Given the description of an element on the screen output the (x, y) to click on. 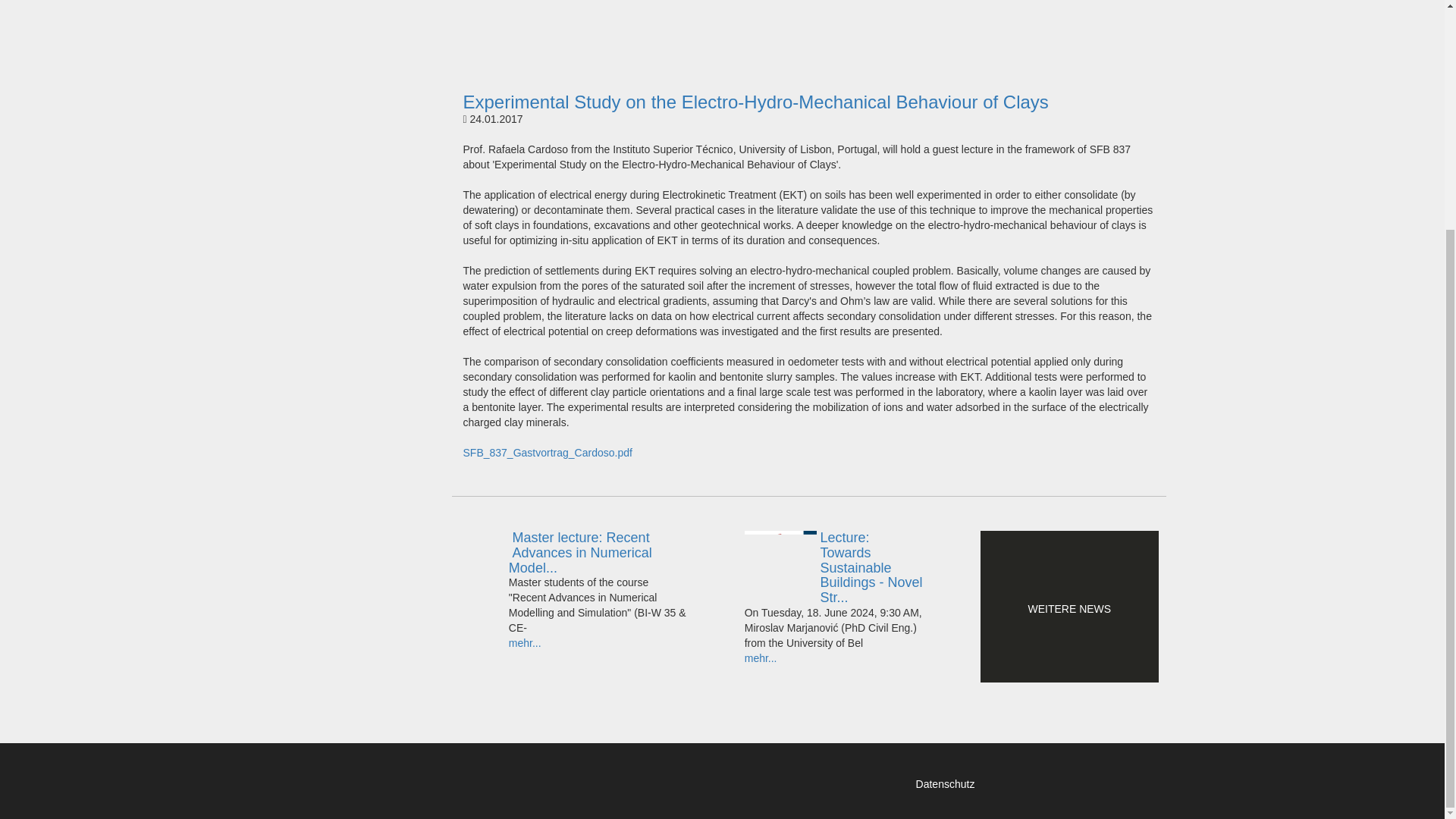
mehr... (760, 657)
Master lecture: Recent Advances in Numerical Model... (597, 552)
Lecture: Towards Sustainable Buildings - Novel Str... (833, 568)
Datenschutz (944, 784)
mehr... (524, 643)
